Given the description of an element on the screen output the (x, y) to click on. 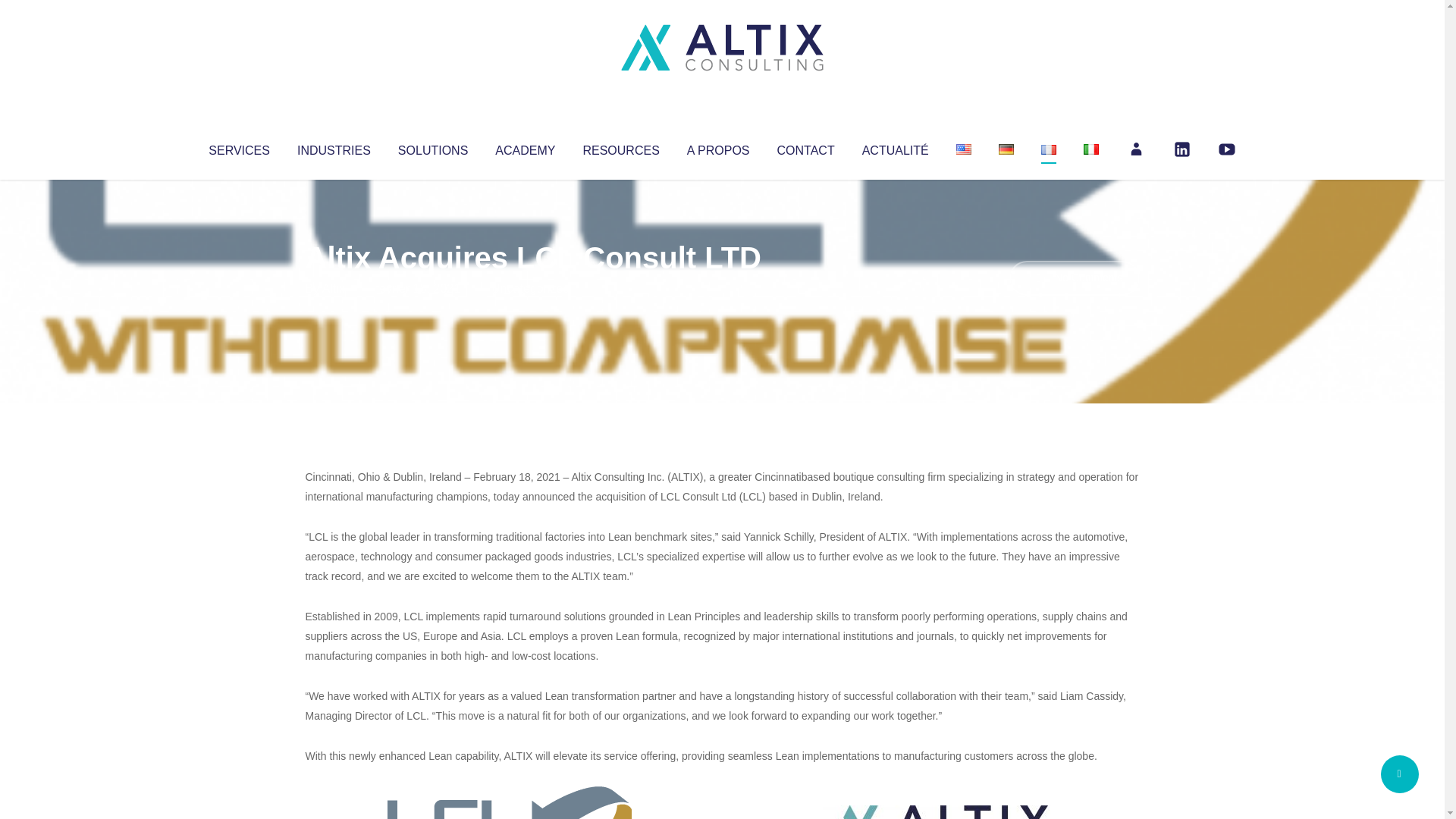
A PROPOS (718, 146)
No Comments (1073, 278)
SOLUTIONS (432, 146)
Uncategorized (530, 287)
SERVICES (238, 146)
Altix (333, 287)
Articles par Altix (333, 287)
RESOURCES (620, 146)
ACADEMY (524, 146)
INDUSTRIES (334, 146)
